Given the description of an element on the screen output the (x, y) to click on. 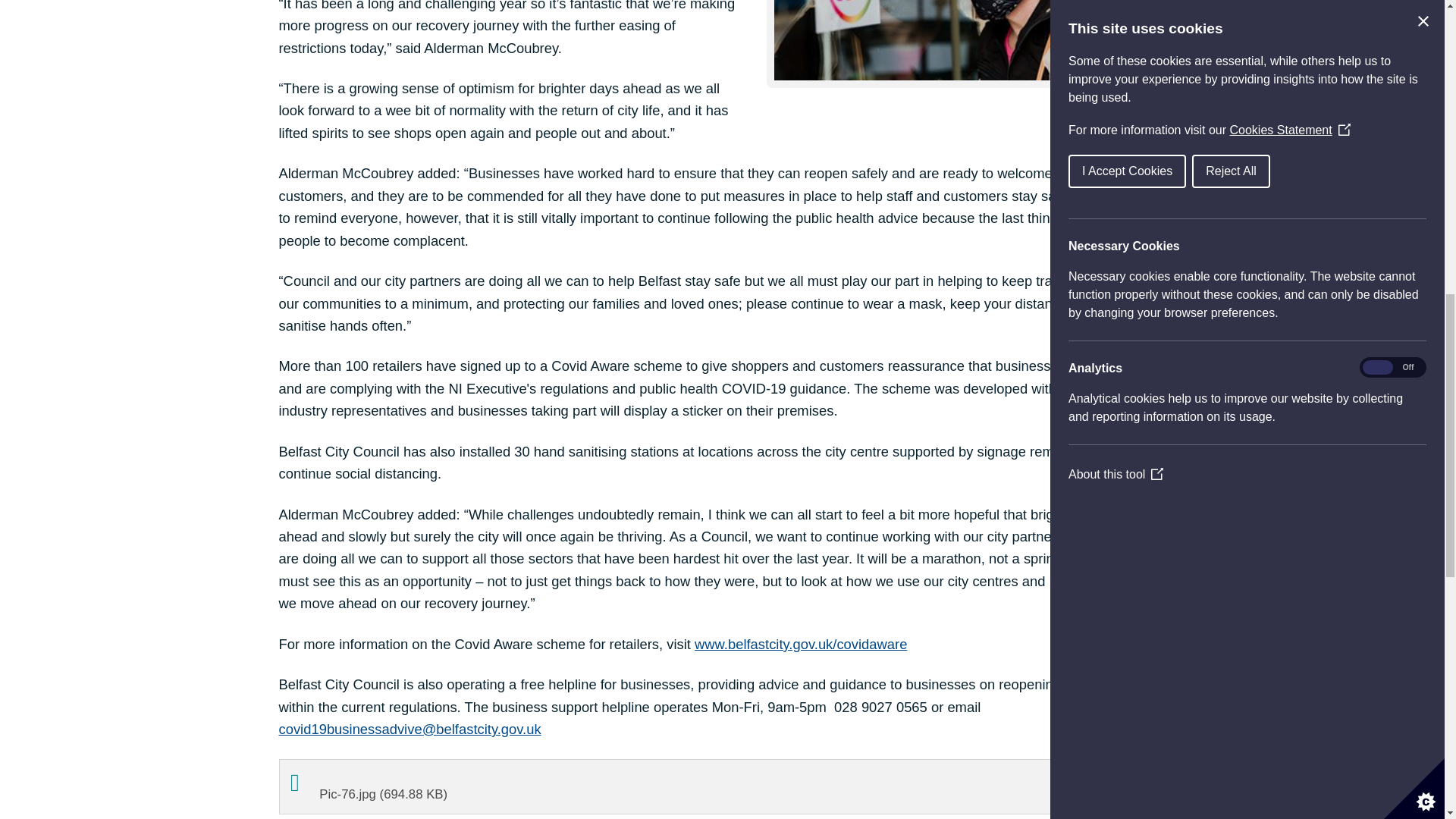
Pic-76.jpg (721, 787)
